Given the description of an element on the screen output the (x, y) to click on. 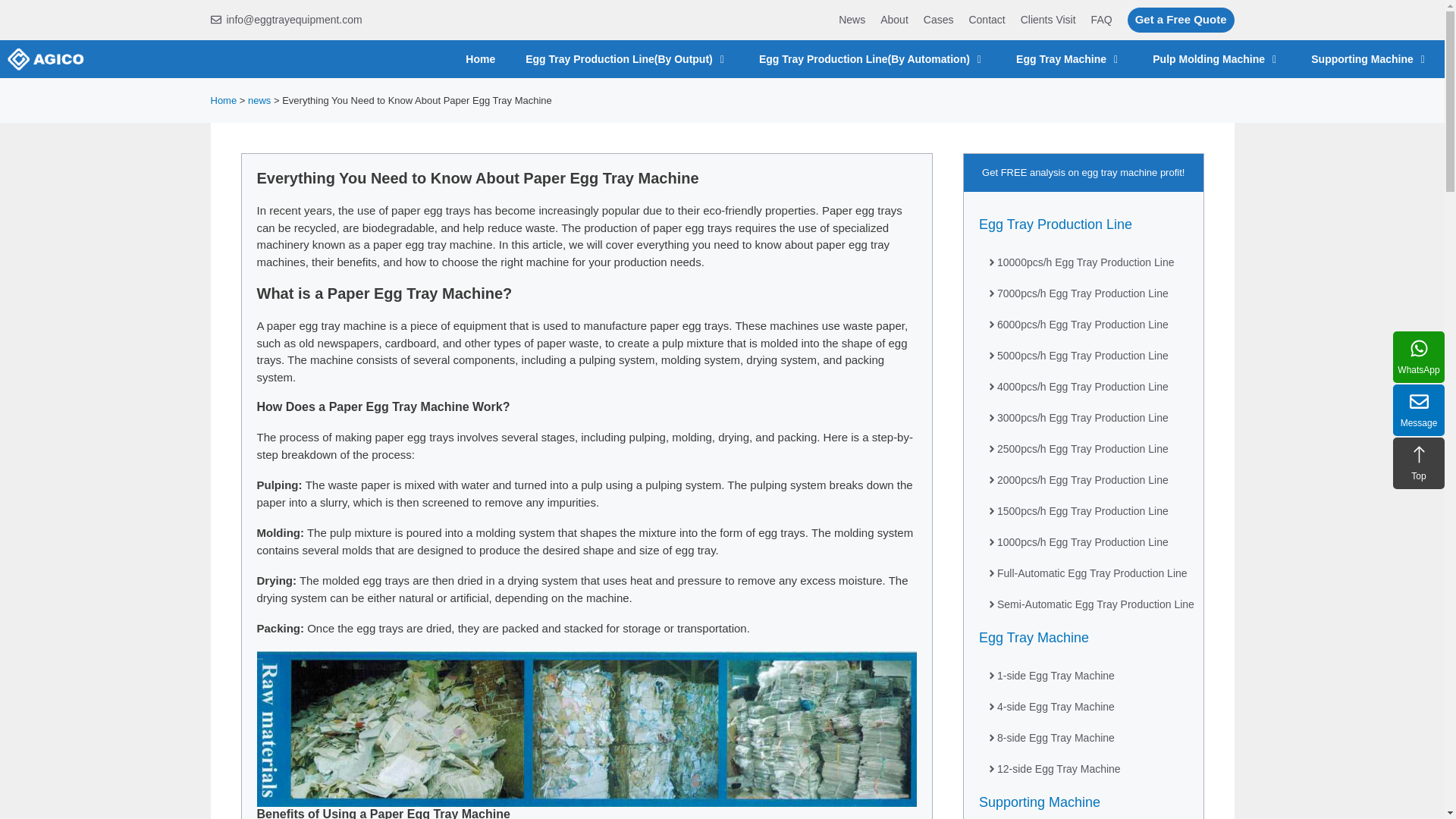
Cases (938, 19)
Pulp Molding Machine (1216, 57)
About (894, 19)
Egg tray machine manufacturer, pulp molding machine (45, 57)
FAQ (1101, 19)
Clients Visit (1047, 19)
Get a Free Quote (1180, 19)
News (851, 19)
Egg tray machine manufacturer, pulp molding machine (49, 57)
Egg Tray Machine (1069, 57)
